Given the description of an element on the screen output the (x, y) to click on. 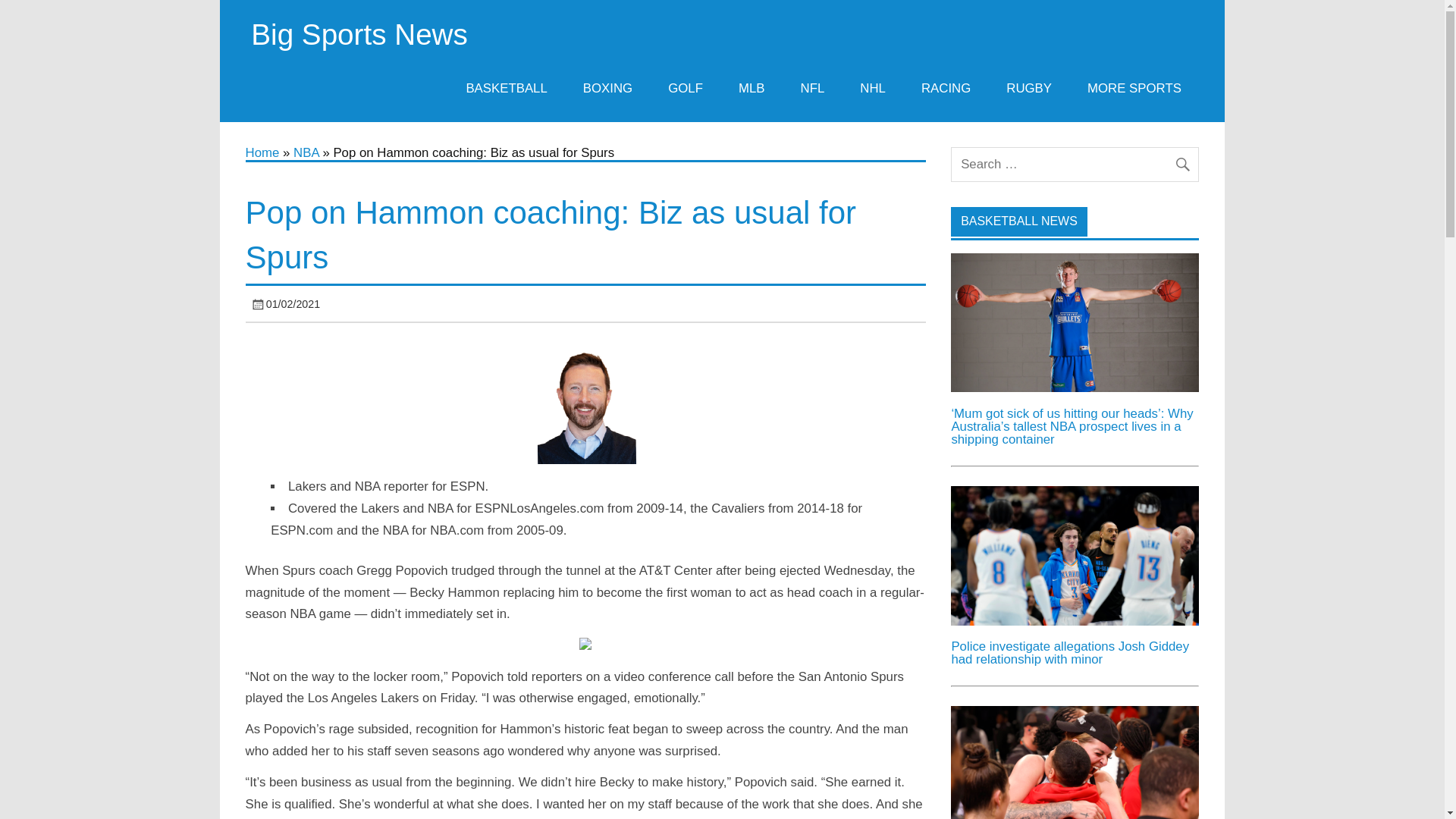
MLB (751, 88)
NBA (306, 152)
RACING (945, 88)
02:47 (293, 304)
BASKETBALL (506, 88)
NHL (873, 88)
Big Sports News (358, 34)
GOLF (685, 88)
BOXING (606, 88)
NFL (813, 88)
RUGBY (1029, 88)
MORE SPORTS (1134, 88)
